Given the description of an element on the screen output the (x, y) to click on. 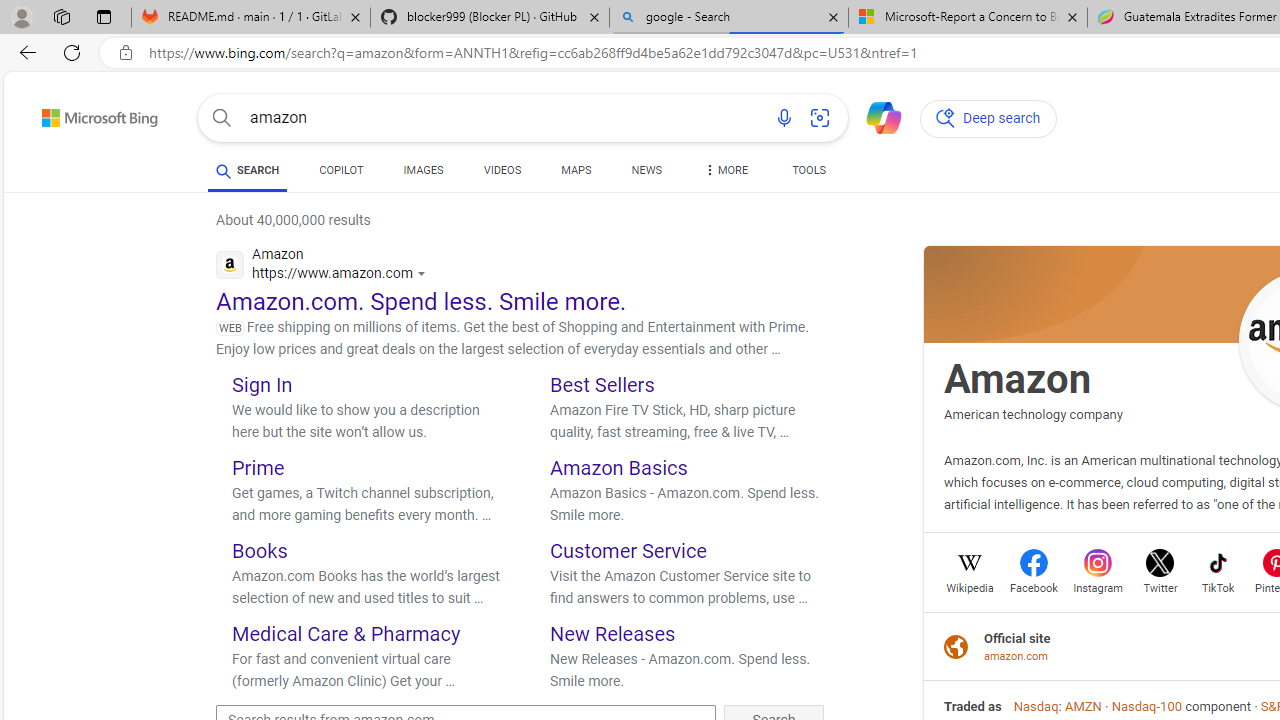
Amazon (1017, 378)
SEARCH (247, 170)
Facebook (1033, 586)
MAPS (576, 173)
Sign In (262, 384)
